Given the description of an element on the screen output the (x, y) to click on. 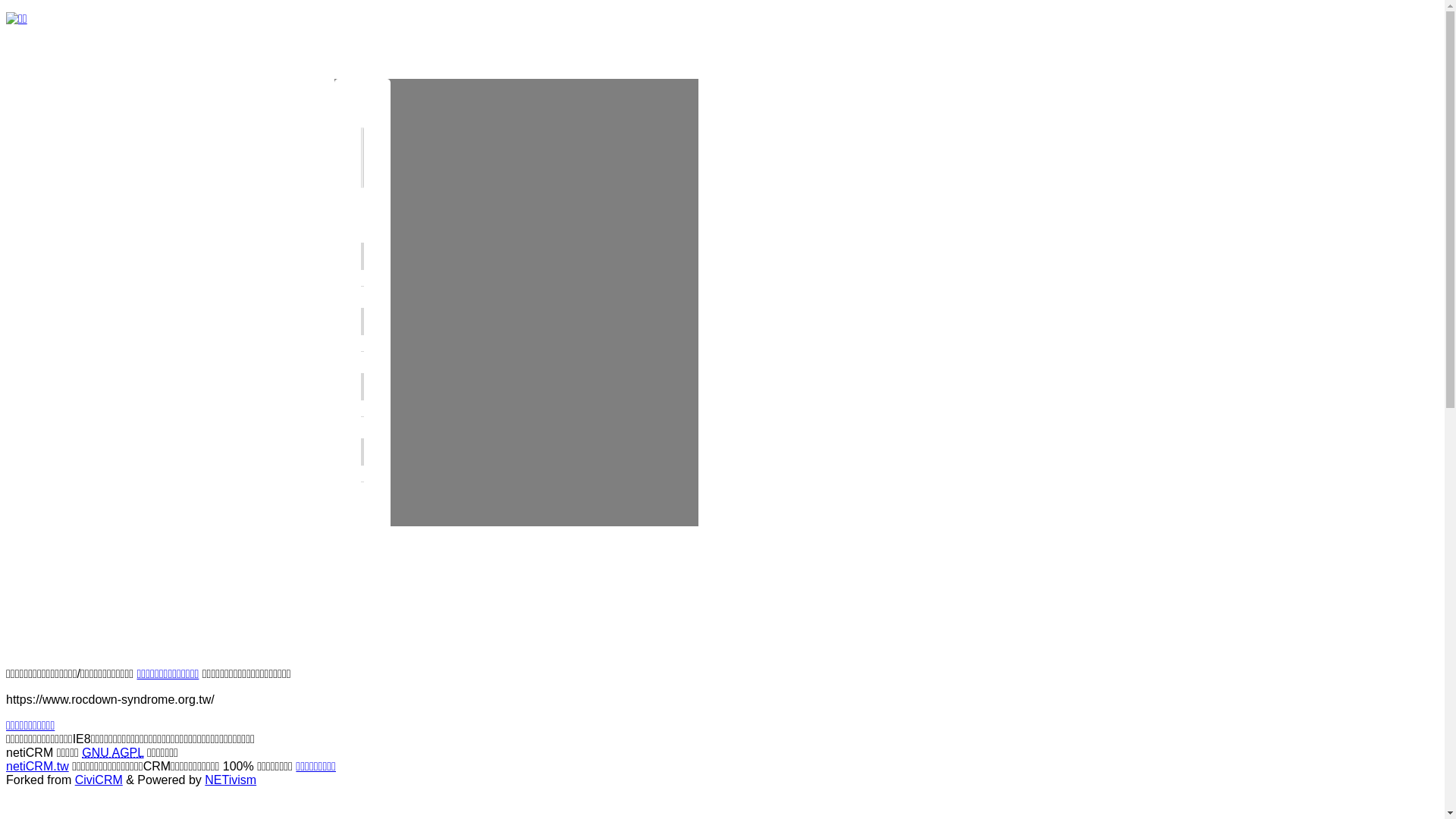
Jump to Main content Element type: text (64, 12)
Jump to Navigation Element type: text (57, 12)
NETivism Element type: text (230, 779)
netiCRM.tw Element type: text (37, 765)
GNU AGPL Element type: text (112, 752)
CiviCRM Element type: text (98, 779)
